Given the description of an element on the screen output the (x, y) to click on. 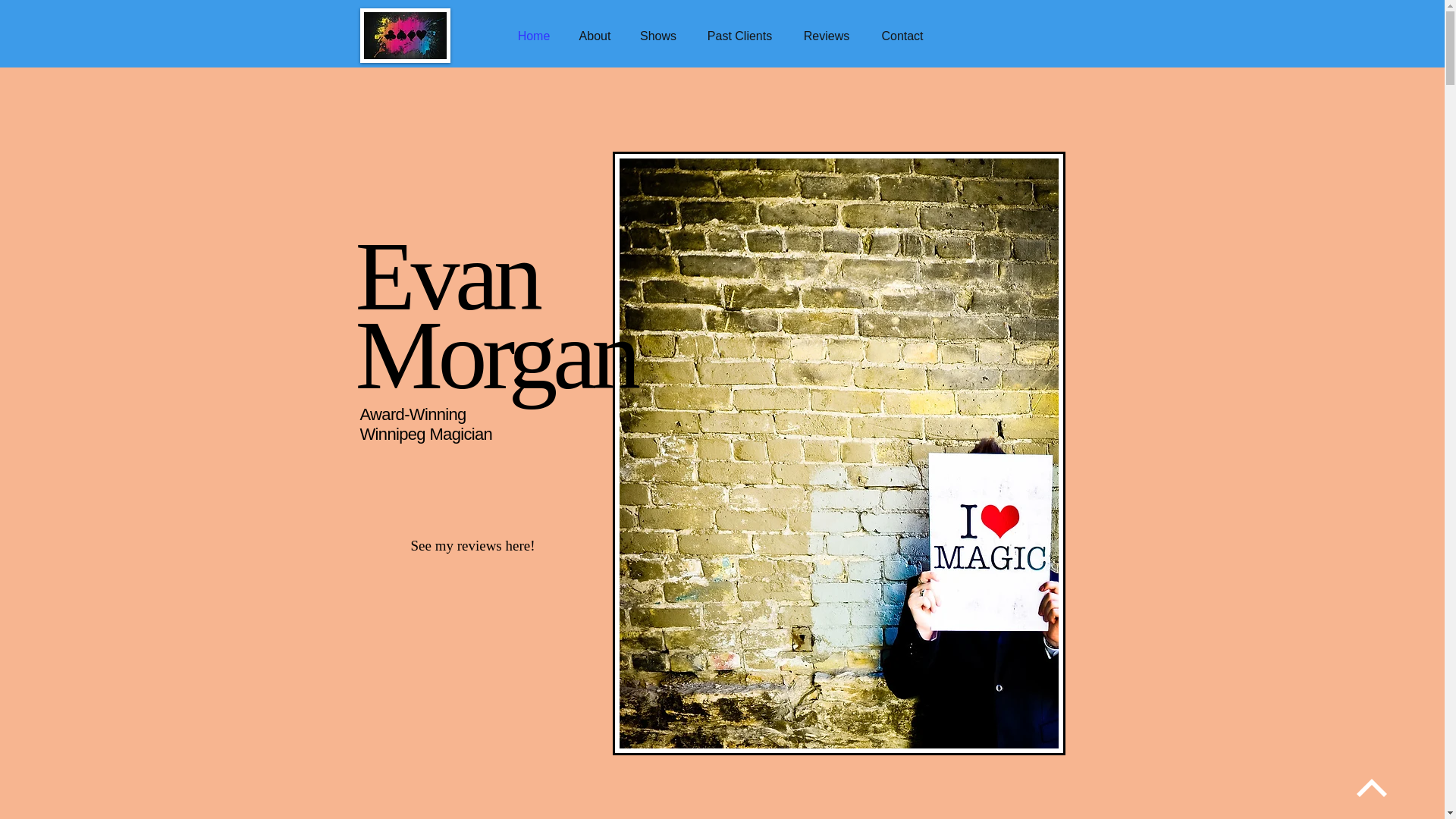
Reviews (826, 35)
Home (533, 35)
About (595, 35)
Past Clients (739, 35)
Contact (902, 35)
Shows (658, 35)
